Given the description of an element on the screen output the (x, y) to click on. 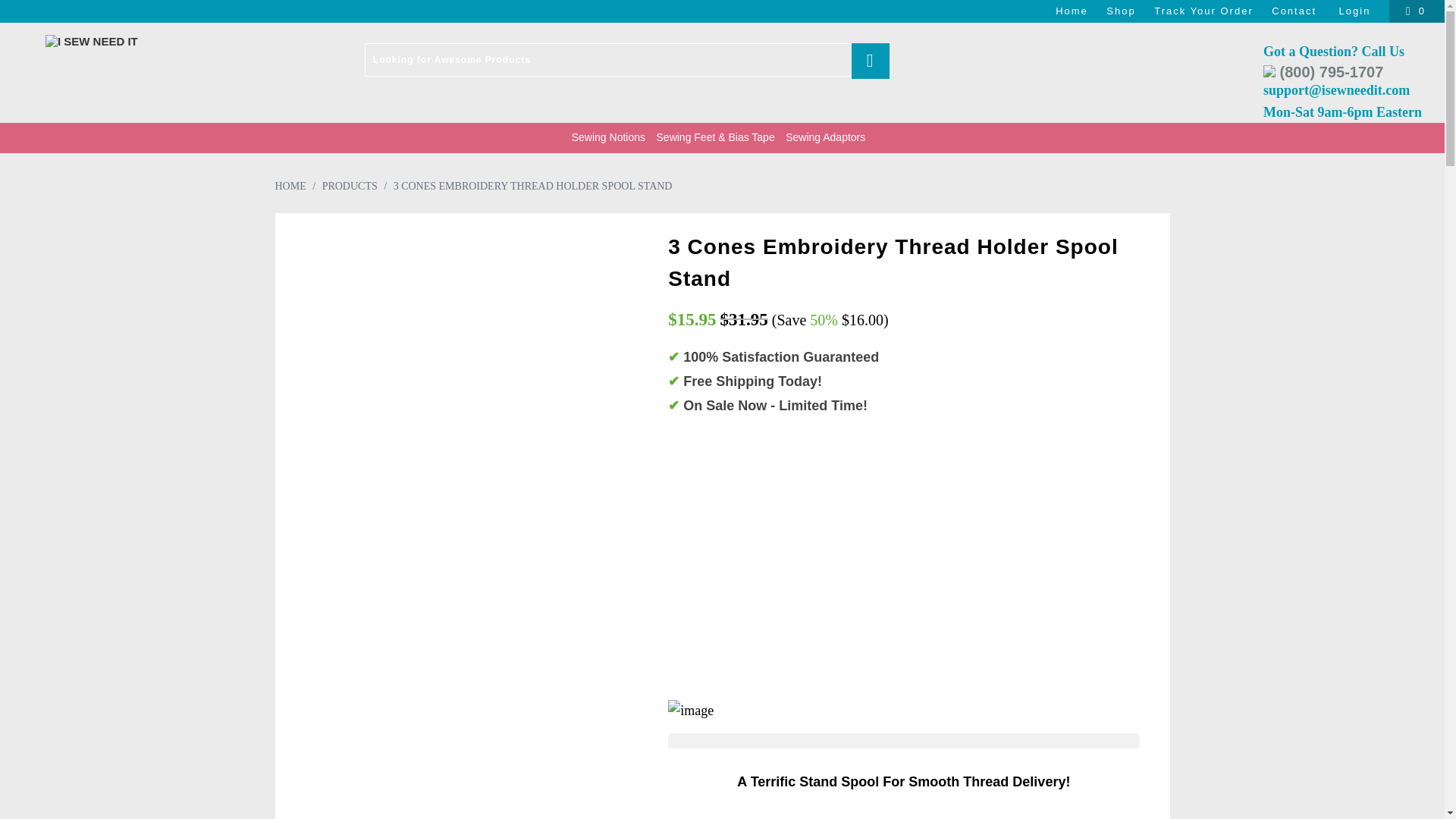
I Sew Need It (122, 41)
Products (349, 185)
Contact (1293, 11)
Track Your Order (1203, 11)
PRODUCTS (349, 185)
Login (1356, 11)
My Account  (1356, 11)
Sewing Notions (608, 137)
Sewing Adaptors (825, 137)
HOME (290, 185)
Home (1071, 11)
I Sew Need It (290, 185)
3 CONES EMBROIDERY THREAD HOLDER SPOOL STAND (532, 185)
Shop (1120, 11)
